Given the description of an element on the screen output the (x, y) to click on. 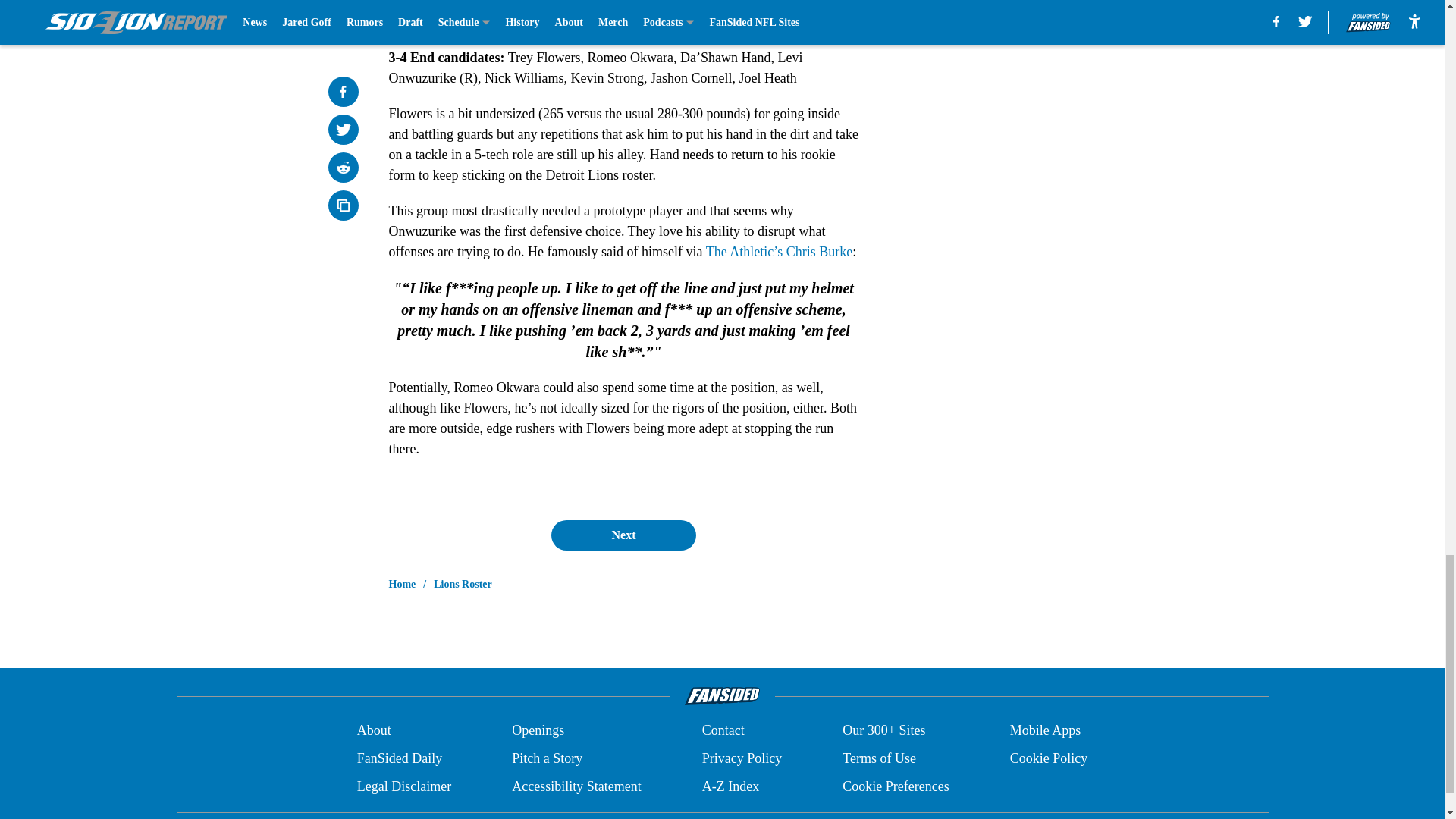
About (373, 730)
Lions Roster (462, 584)
Next (622, 535)
Terms of Use (879, 758)
Privacy Policy (742, 758)
Openings (538, 730)
Contact (722, 730)
Pitch a Story (547, 758)
FanSided Daily (399, 758)
Mobile Apps (1045, 730)
